Given the description of an element on the screen output the (x, y) to click on. 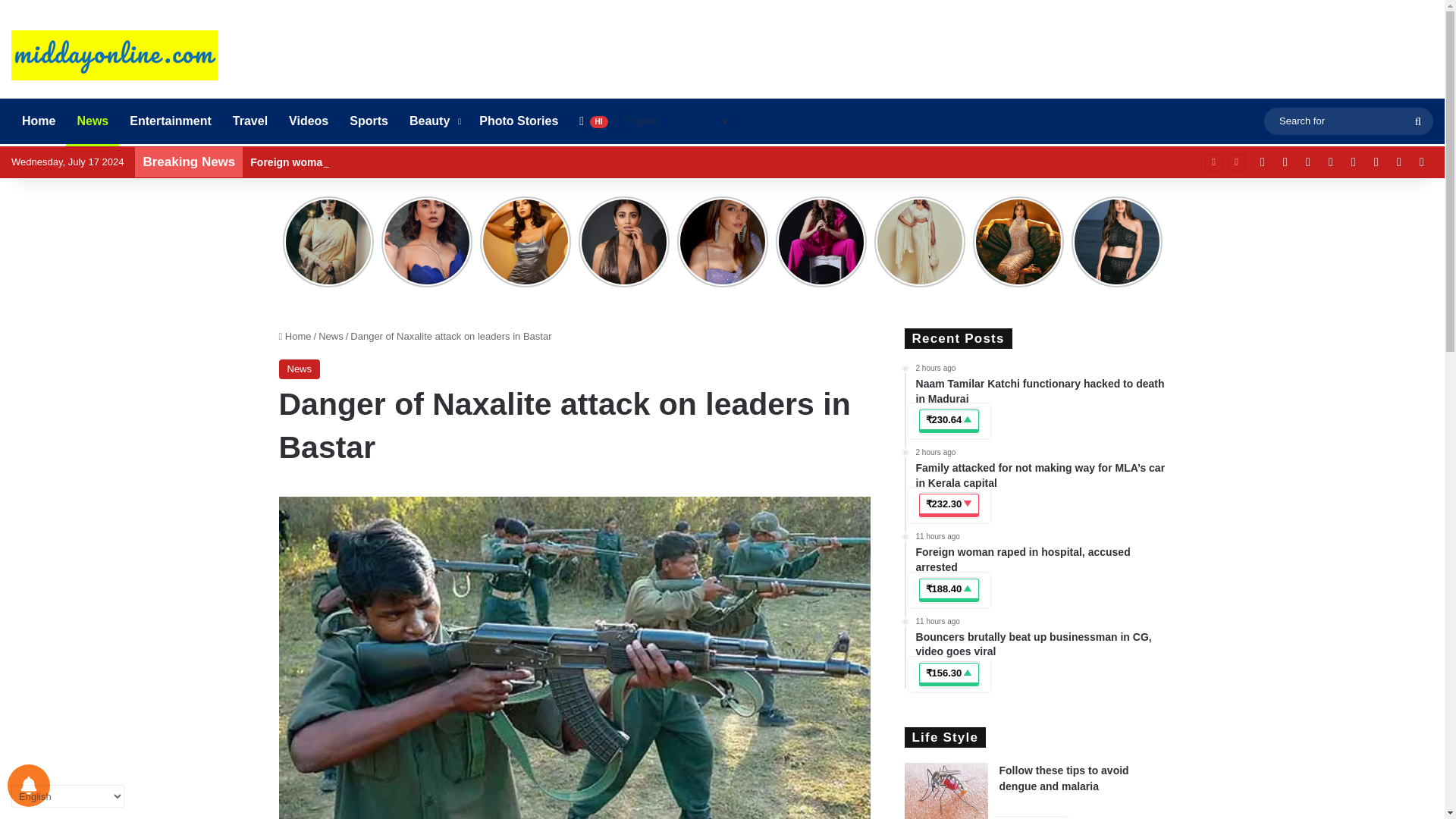
Videos (308, 121)
YouTube (1285, 162)
Beauty (433, 121)
Random Article (1398, 162)
Search for (1417, 121)
Search for (1347, 120)
Home (38, 121)
Home (295, 336)
Log In (1376, 162)
Sports (368, 121)
Switch skin (1421, 162)
Photo Stories (518, 121)
Entertainment (170, 121)
Switch skin (1421, 162)
HI (593, 121)
